Given the description of an element on the screen output the (x, y) to click on. 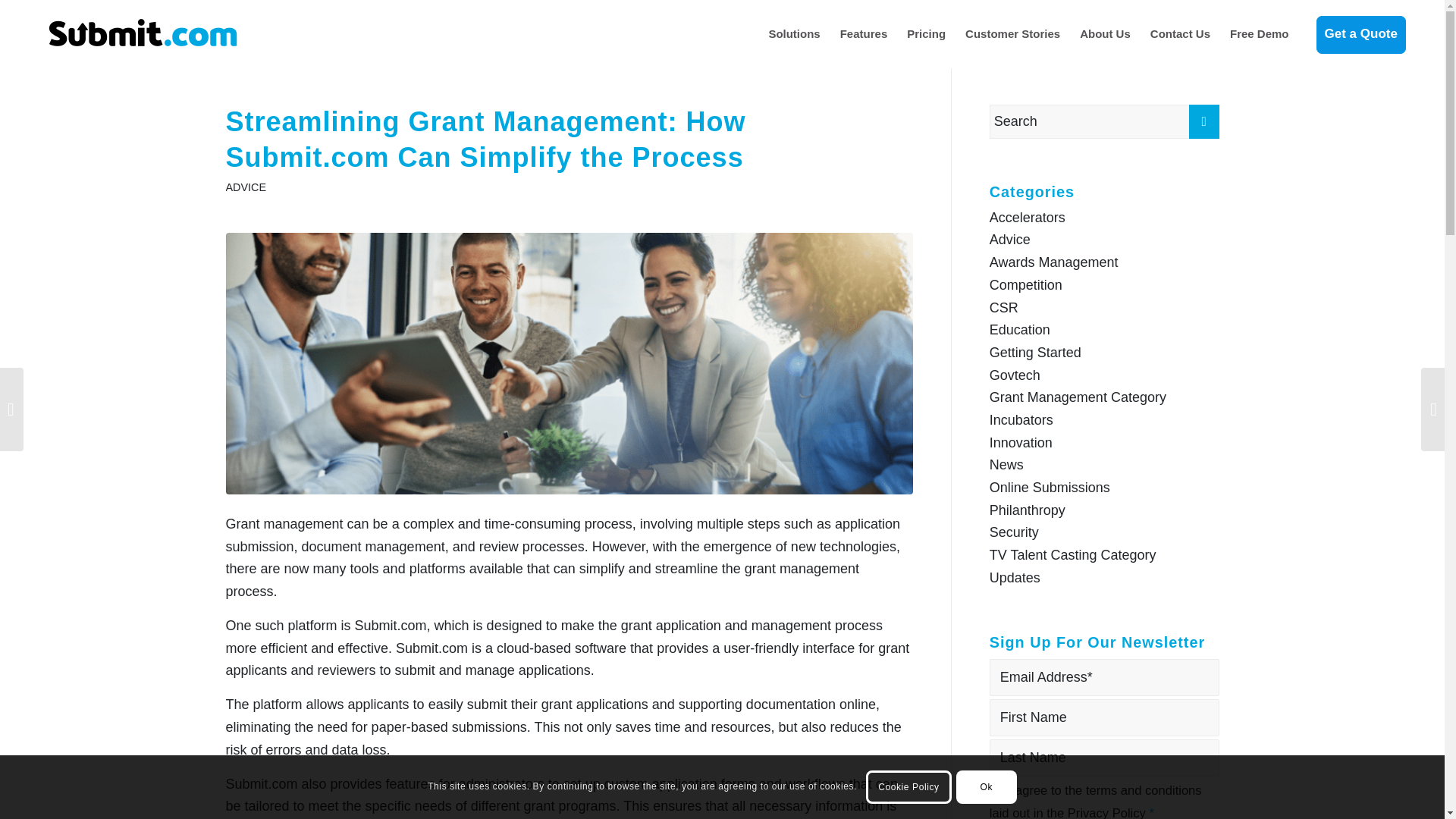
ADVICE (245, 186)
Free Demo (1259, 33)
About Us (1105, 33)
true (997, 787)
Solutions (793, 33)
Get a Quote (1356, 33)
Customer Stories (1012, 33)
Features (863, 33)
